Given the description of an element on the screen output the (x, y) to click on. 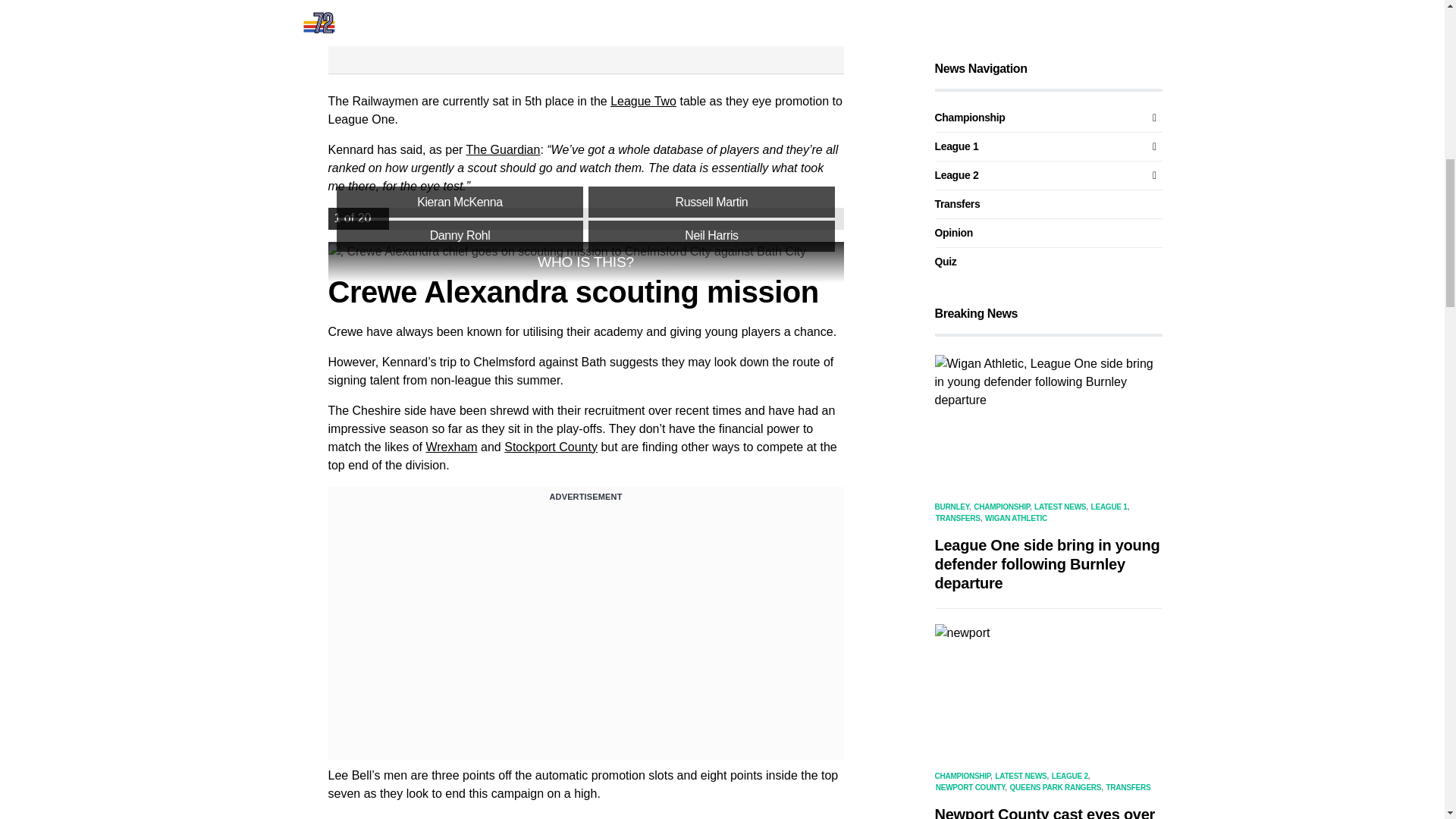
Danny Rohl (459, 236)
Kieran McKenna (459, 202)
Neil Harris (711, 236)
Russell Martin (711, 202)
